Given the description of an element on the screen output the (x, y) to click on. 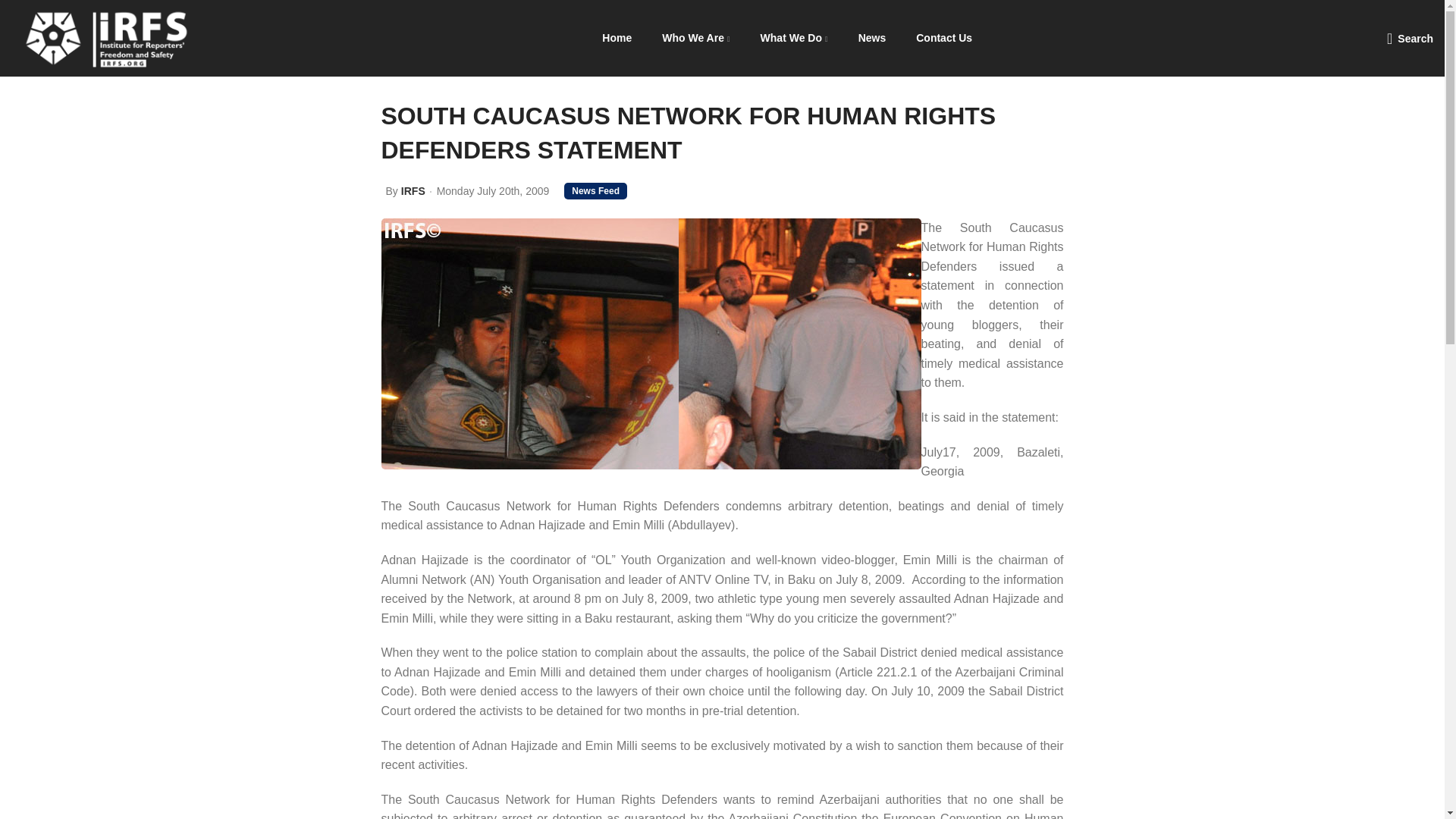
Home (616, 37)
IRFS (413, 191)
News (872, 37)
Contact Us (944, 37)
Who We Are (695, 37)
Search (1409, 37)
News Feed (595, 190)
What We Do (794, 37)
